Given the description of an element on the screen output the (x, y) to click on. 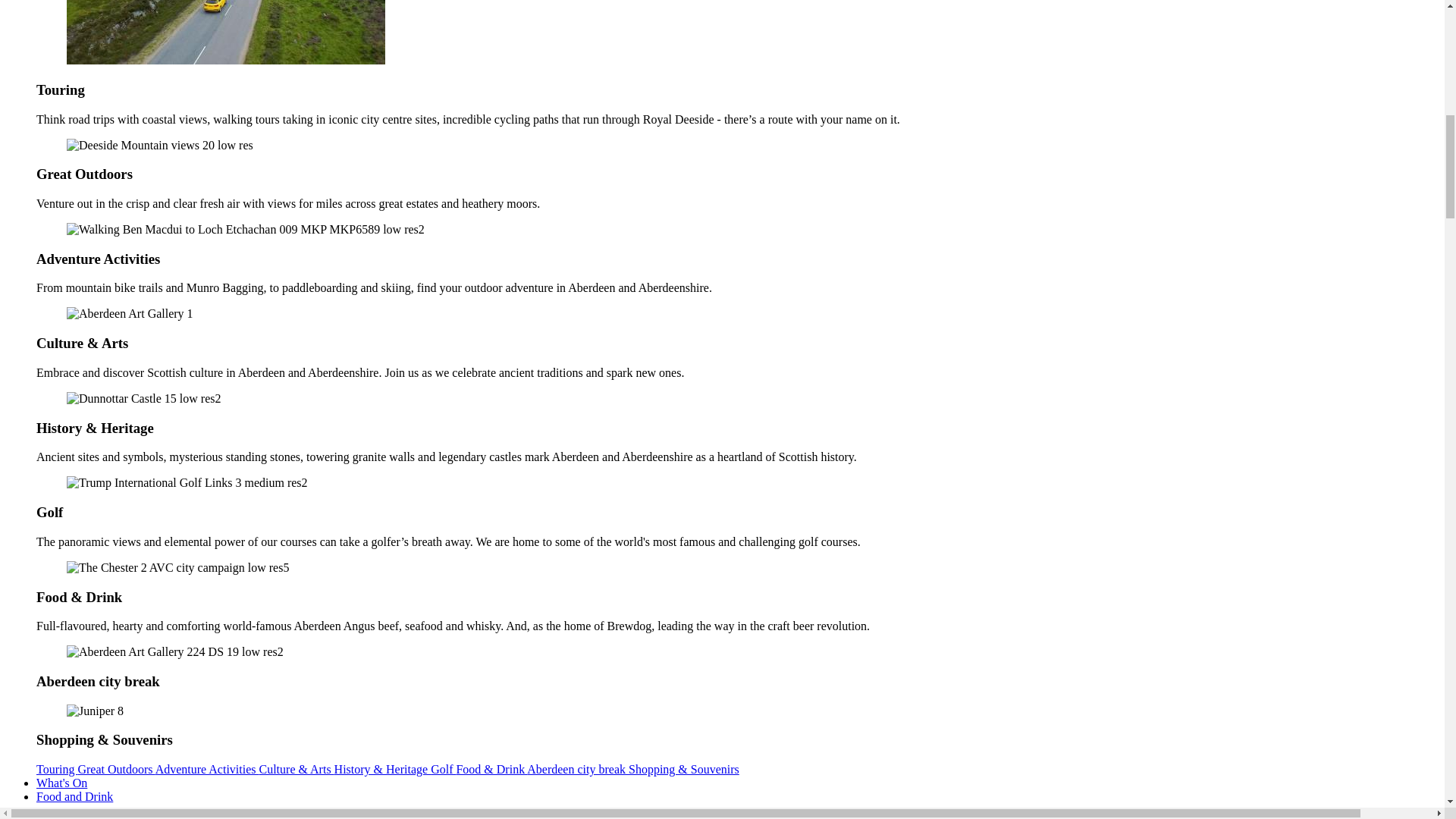
Food and Drink (74, 796)
What's On (61, 782)
Great Outdoors (115, 768)
Aberdeen city break (577, 768)
Touring (56, 768)
Golf (442, 768)
Adventure Activities (207, 768)
